Given the description of an element on the screen output the (x, y) to click on. 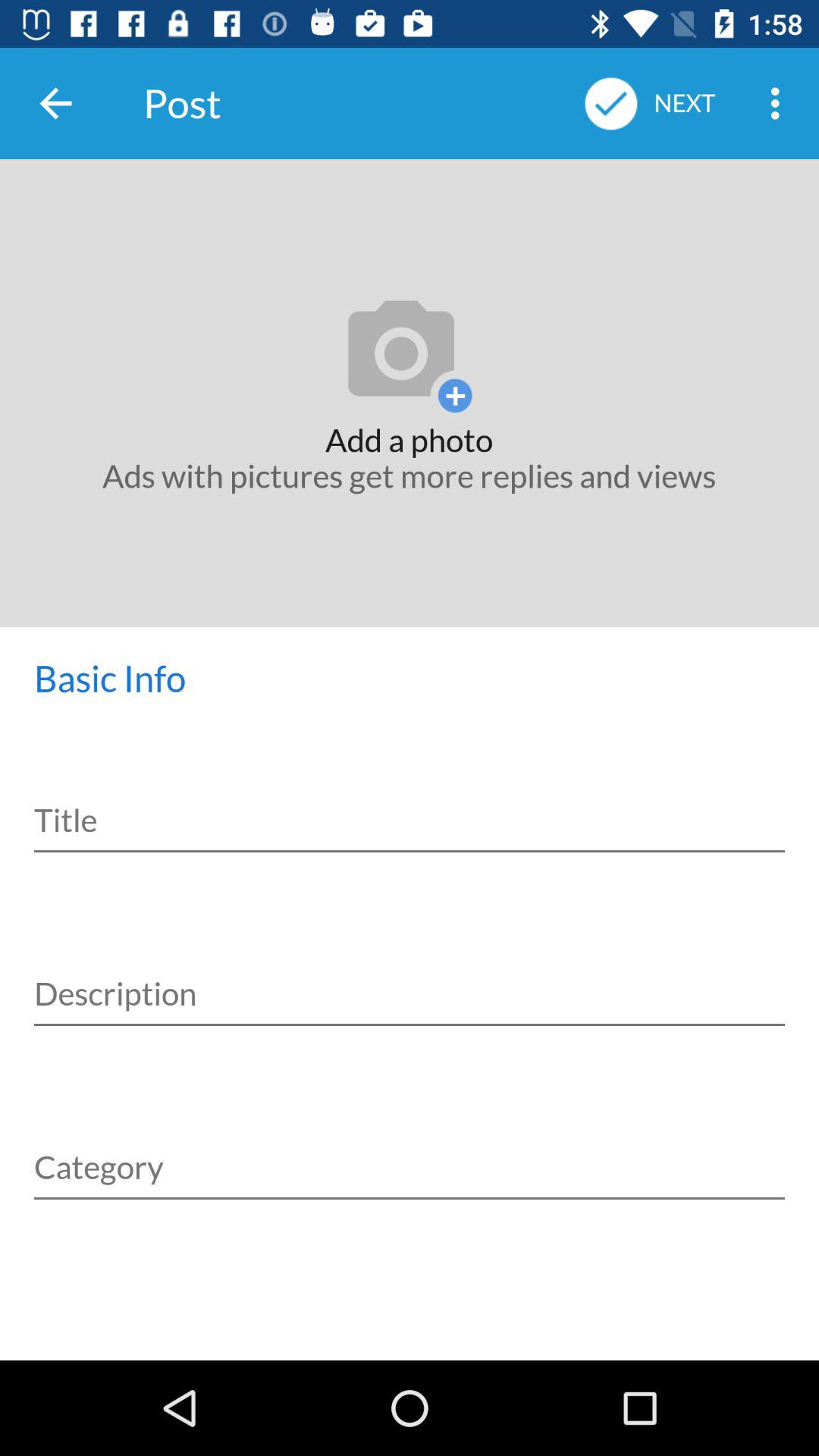
description (409, 976)
